Given the description of an element on the screen output the (x, y) to click on. 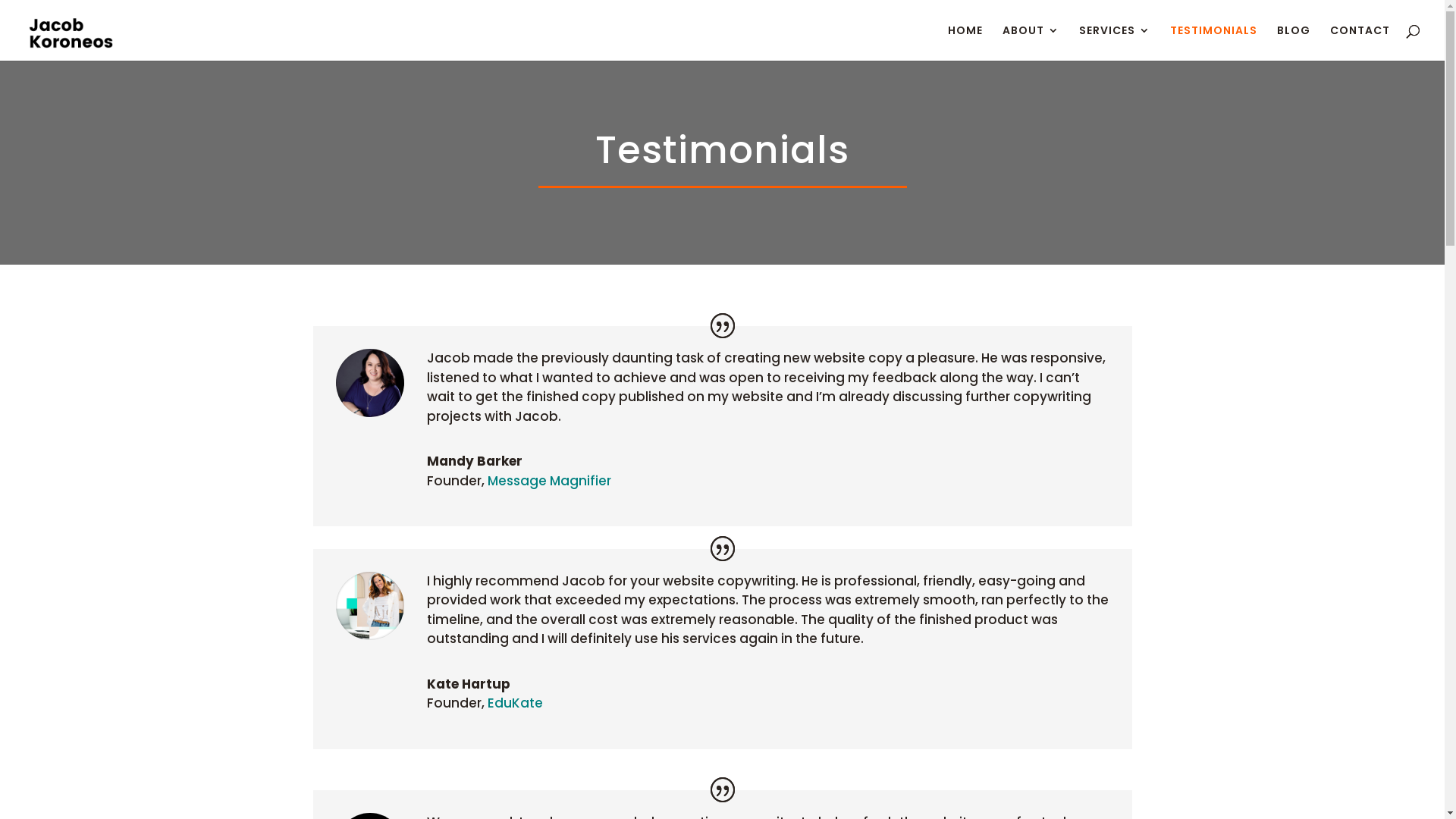
ABOUT Element type: text (1030, 42)
TESTIMONIALS Element type: text (1213, 42)
BLOG Element type: text (1293, 42)
EduKate Element type: text (514, 702)
HOME Element type: text (964, 42)
SERVICES Element type: text (1114, 42)
Message Magnifier Element type: text (548, 480)
CONTACT Element type: text (1360, 42)
